Given the description of an element on the screen output the (x, y) to click on. 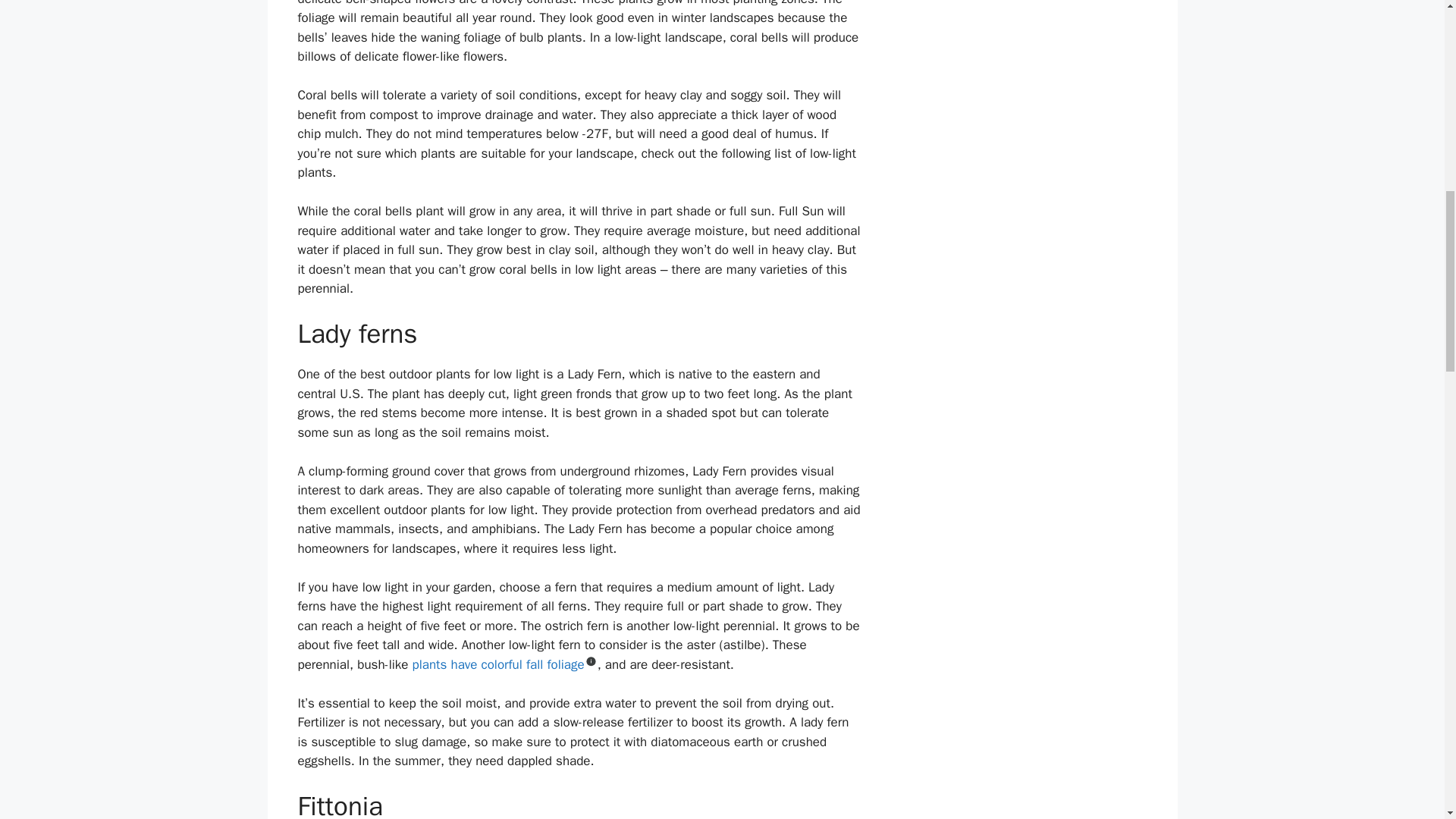
plants have colorful fall foliage (498, 664)
